Given the description of an element on the screen output the (x, y) to click on. 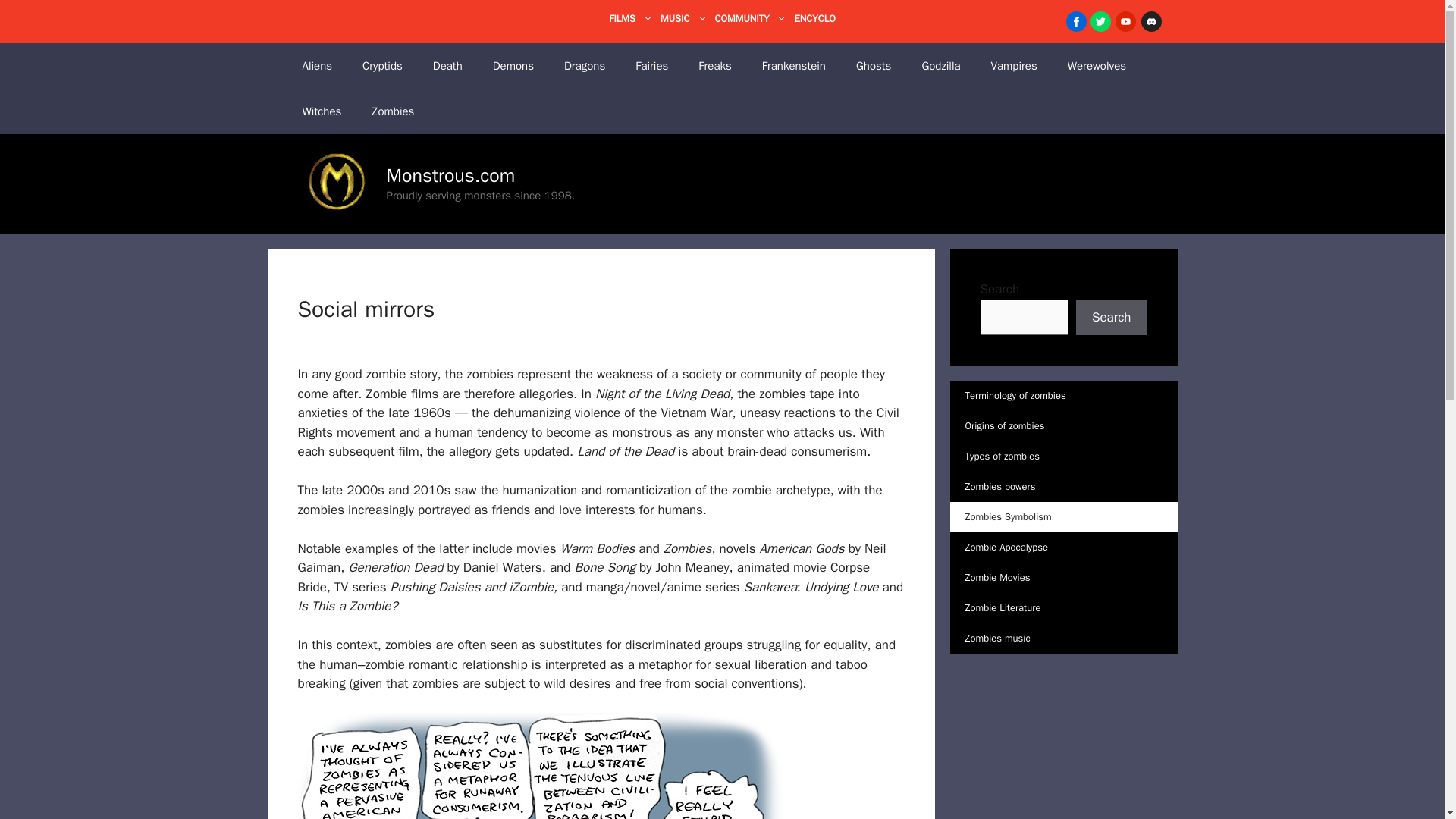
Freaks (713, 64)
Frankenstein (793, 64)
Fairies (651, 64)
Godzilla (940, 64)
Aliens (316, 64)
Demons (512, 64)
Werewolves (1096, 64)
Witches (321, 110)
Dragons (584, 64)
Death (447, 64)
Ghosts (873, 64)
FILMS (634, 18)
MUSIC (687, 18)
ENCYCLO (813, 18)
Cryptids (382, 64)
